Given the description of an element on the screen output the (x, y) to click on. 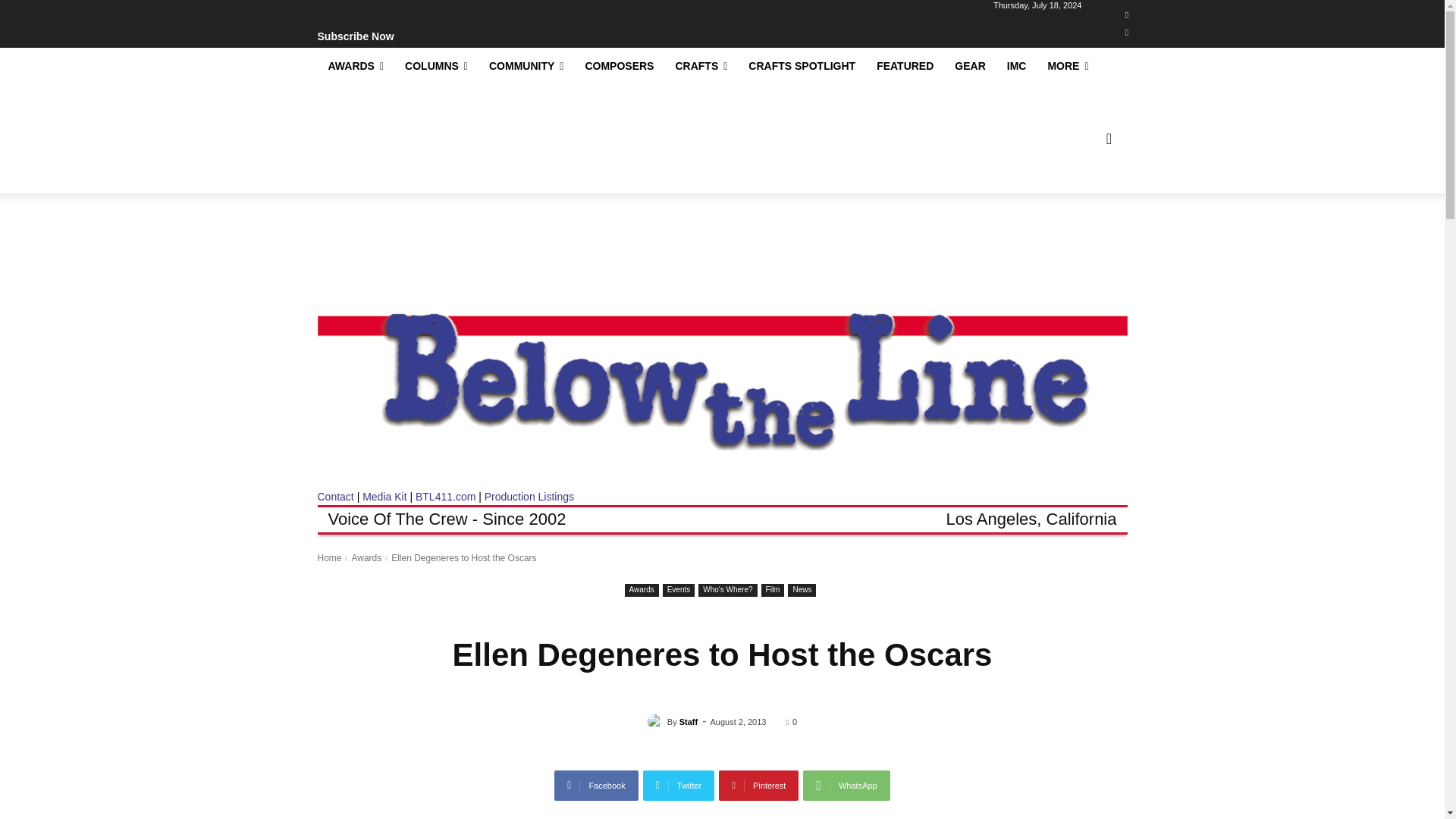
Pinterest (758, 785)
View all posts in Awards (365, 557)
Twitter (678, 785)
Twitter (1126, 32)
Facebook (595, 785)
WhatsApp (846, 785)
Staff (656, 721)
Facebook (1126, 15)
